Given the description of an element on the screen output the (x, y) to click on. 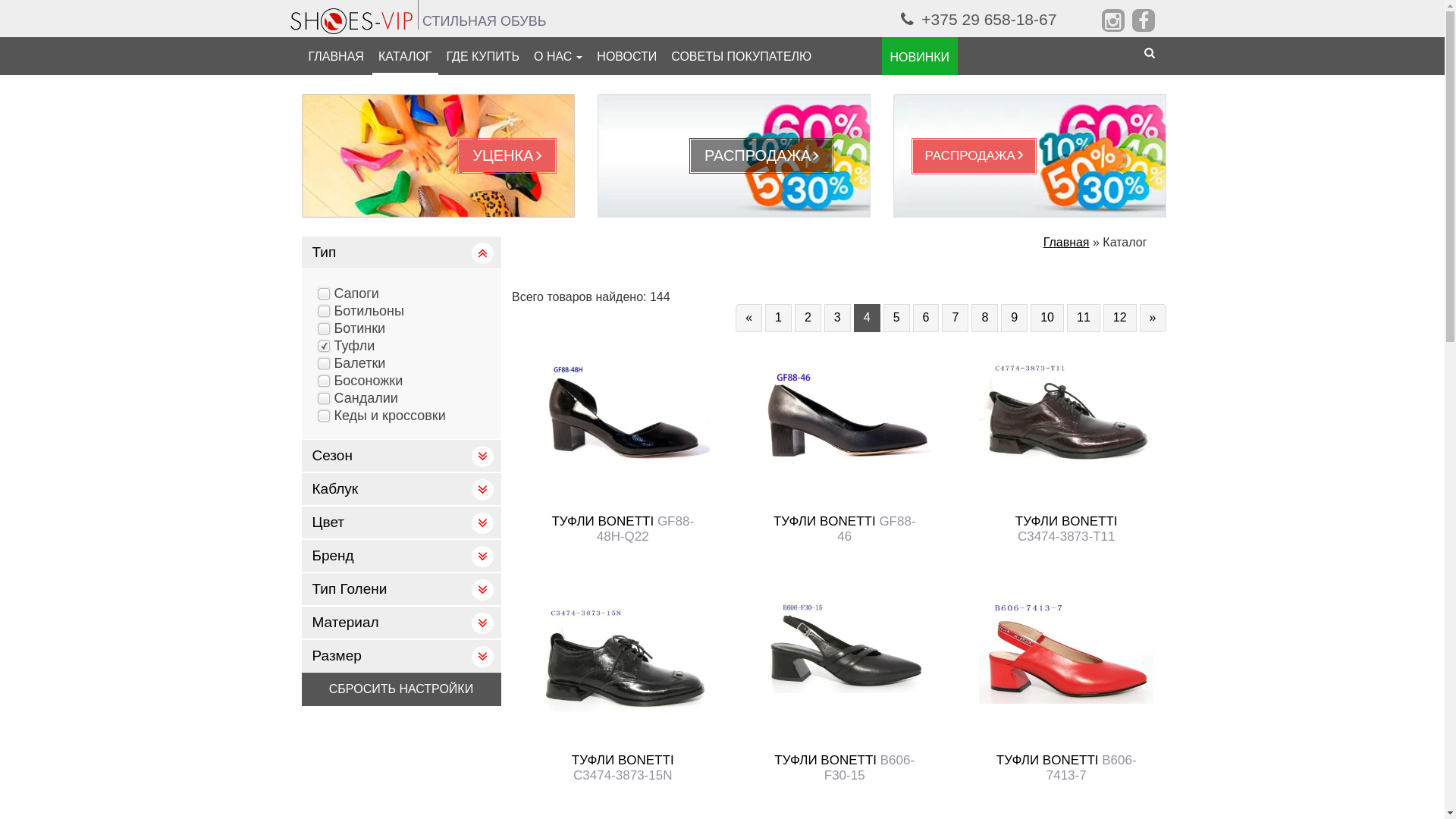
12 Element type: text (1119, 318)
6 Element type: text (926, 318)
10 Element type: text (1046, 318)
9 Element type: text (1014, 318)
5 Element type: text (896, 318)
1 Element type: text (778, 318)
11 Element type: text (1083, 318)
4 Element type: text (866, 318)
8 Element type: text (984, 318)
7 Element type: text (954, 318)
2 Element type: text (807, 318)
+375 29 658-18-67 Element type: text (978, 19)
3 Element type: text (837, 318)
